Given the description of an element on the screen output the (x, y) to click on. 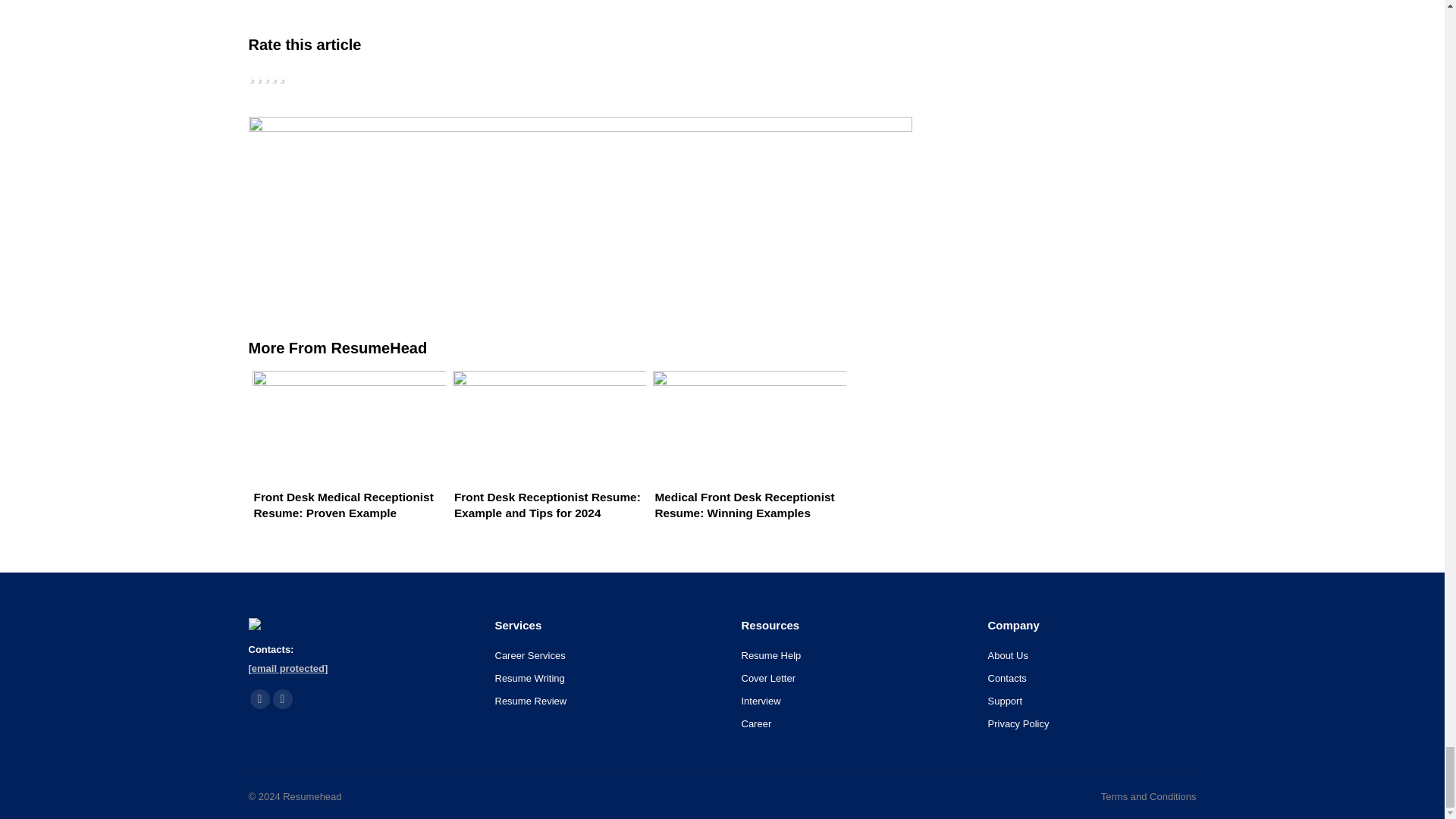
Front Desk Receptionist Resume: Example and Tips for 2024 (545, 461)
Career Services (529, 655)
Front Desk Receptionist Resume: Example and Tips for 2024 (545, 461)
Linkedin page opens in new window (259, 699)
Front Desk Medical Receptionist Resume: Proven Example (345, 461)
Mail page opens in new window (282, 699)
Medical Front Desk Receptionist Resume: Winning Examples (746, 461)
Medical Front Desk Receptionist Resume: Winning Examples (746, 461)
Front Desk Medical Receptionist Resume: Proven Example (345, 461)
Mail page opens in new window (282, 699)
Linkedin page opens in new window (259, 699)
